Given the description of an element on the screen output the (x, y) to click on. 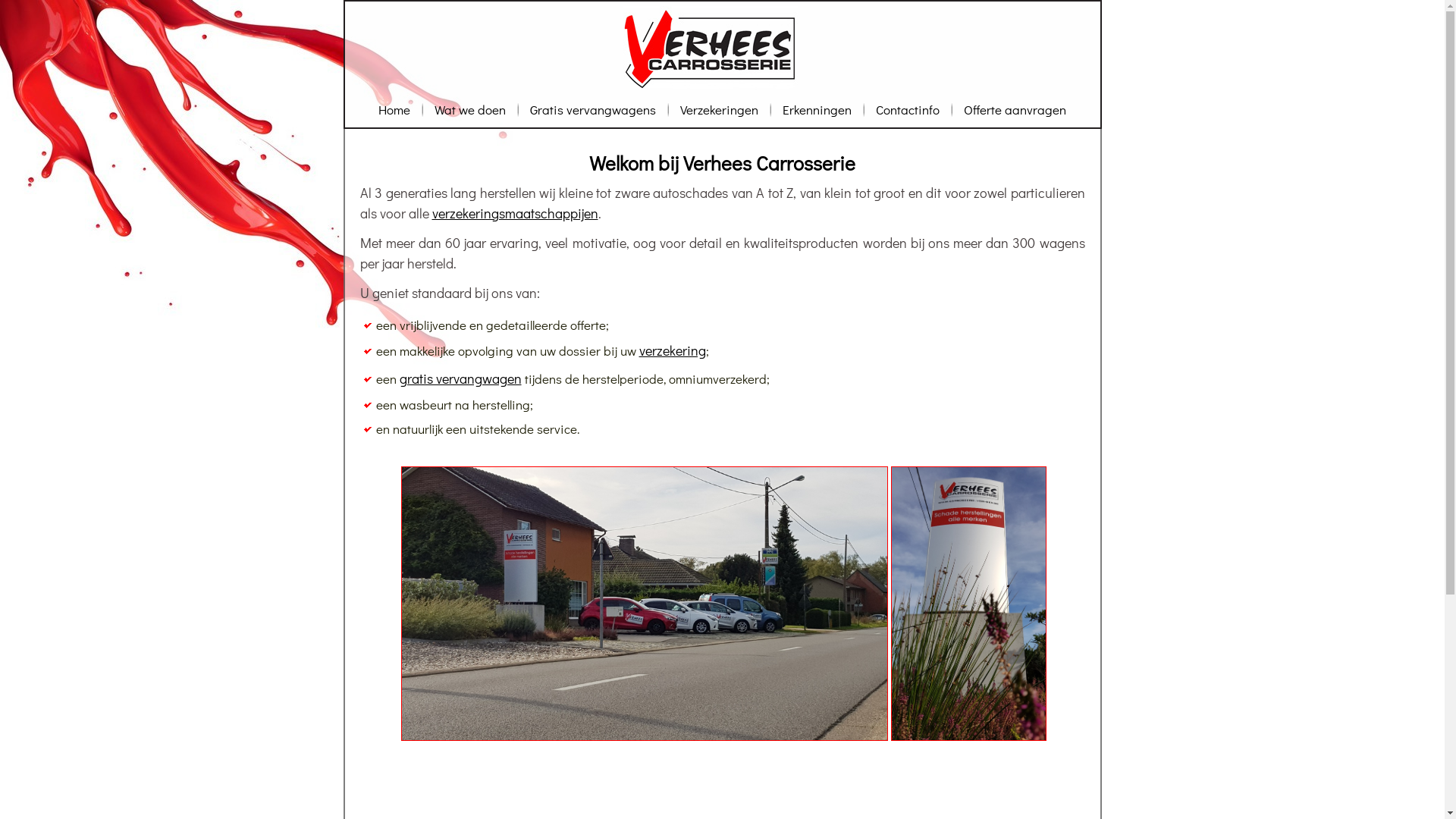
verzekering Element type: text (671, 350)
Home Element type: text (394, 109)
Offerte aanvragen Element type: text (1014, 109)
Gratis vervangwagens Element type: text (592, 109)
Wat we doen Element type: text (470, 109)
verzekeringsmaatschappijen Element type: text (515, 212)
gratis vervangwagen Element type: text (459, 378)
Contactinfo Element type: text (907, 109)
Erkenningen Element type: text (816, 109)
Verzekeringen Element type: text (718, 109)
